Given the description of an element on the screen output the (x, y) to click on. 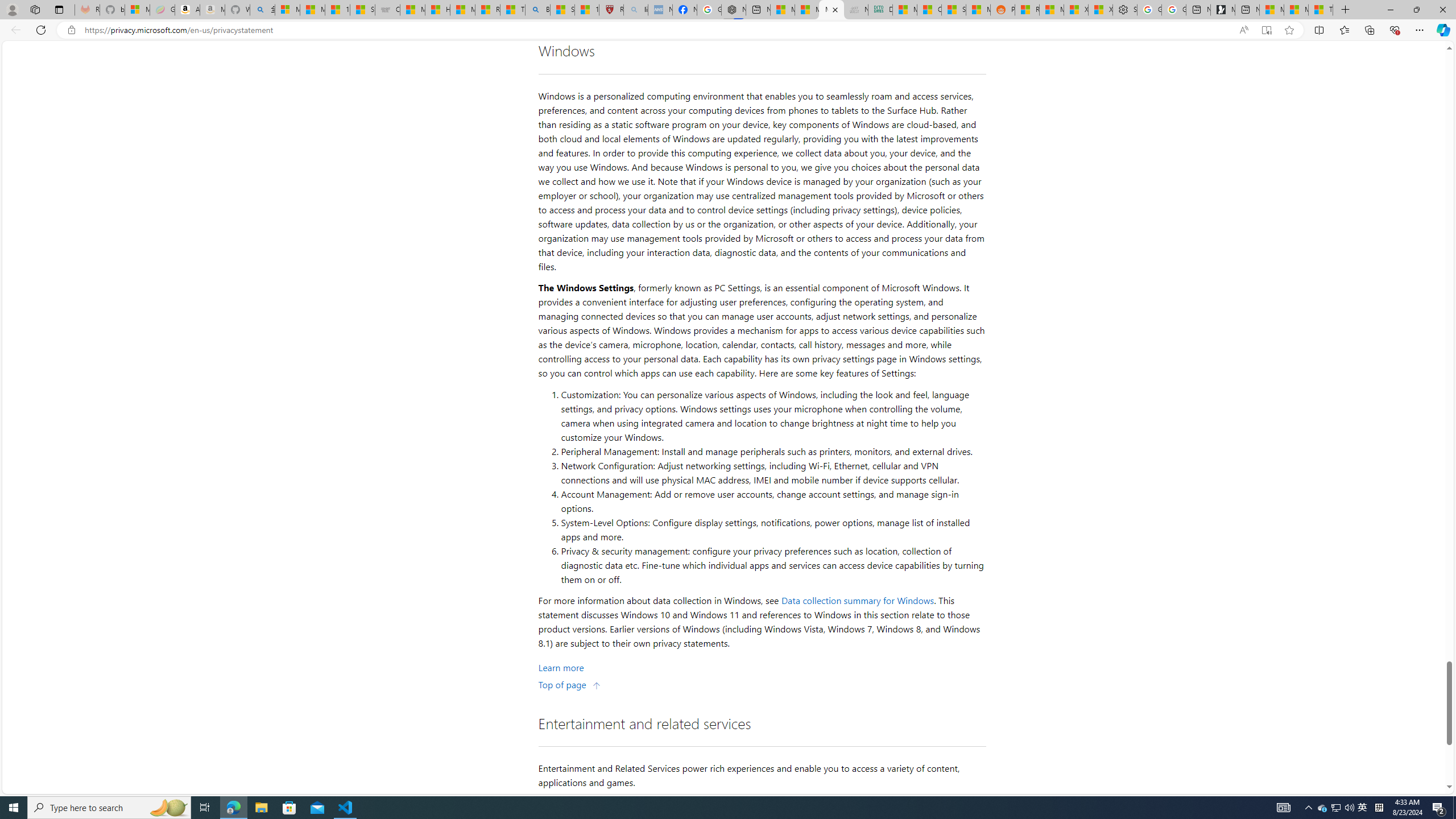
Navy Quest (855, 9)
R******* | Trusted Community Engagement and Contributions (1026, 9)
Recipes - MSN (487, 9)
12 Popular Science Lies that Must be Corrected (586, 9)
Learn More about Windows (560, 667)
Nordace - Nordace Siena Is Not An Ordinary Backpack (733, 9)
